Given the description of an element on the screen output the (x, y) to click on. 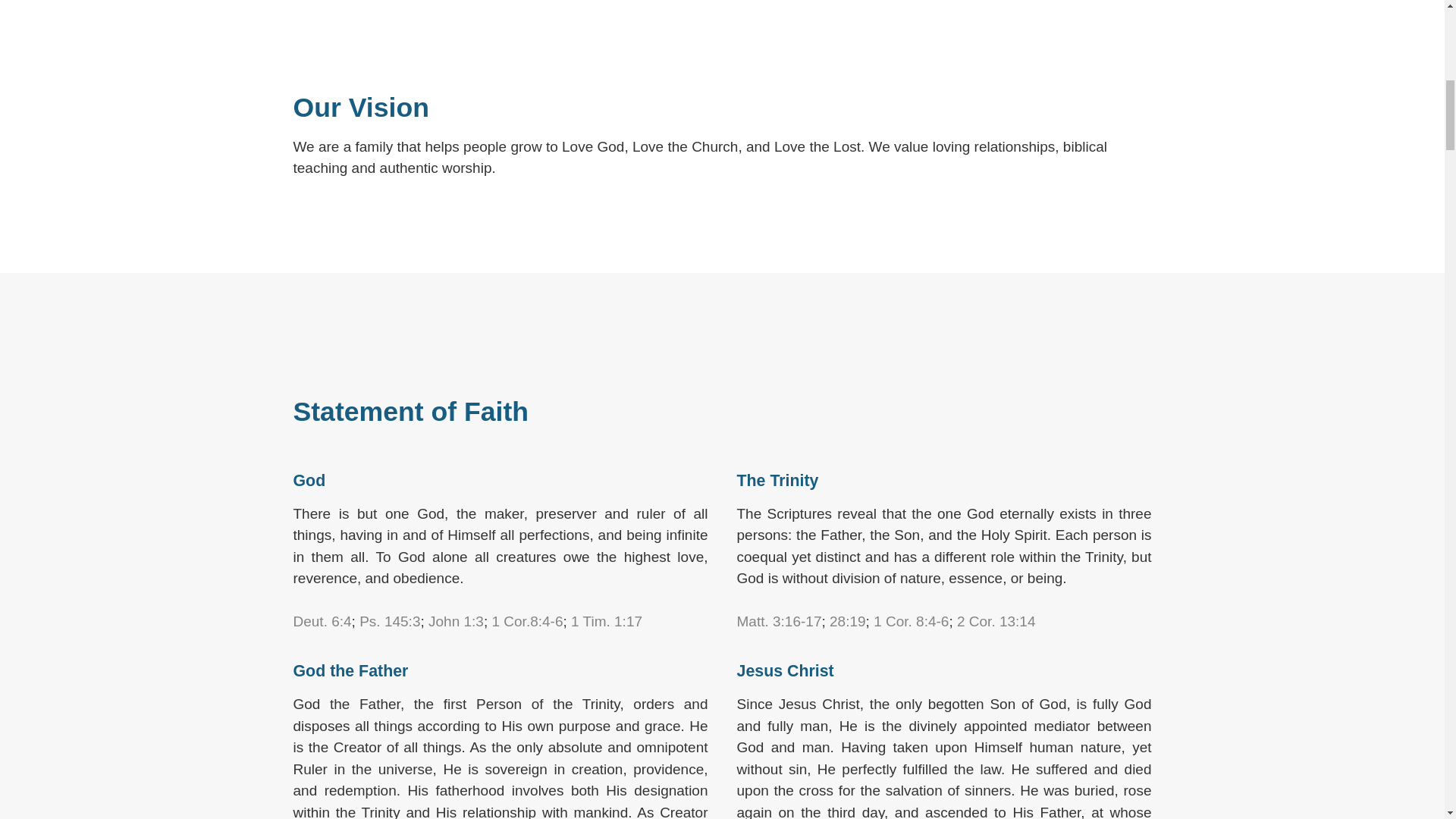
Deut. 6:4 (321, 621)
1 Cor.8:4-6 (527, 621)
Ps. 145:3 (389, 621)
1 Tim. 1:17 (606, 621)
John 1:3 (455, 621)
